Given the description of an element on the screen output the (x, y) to click on. 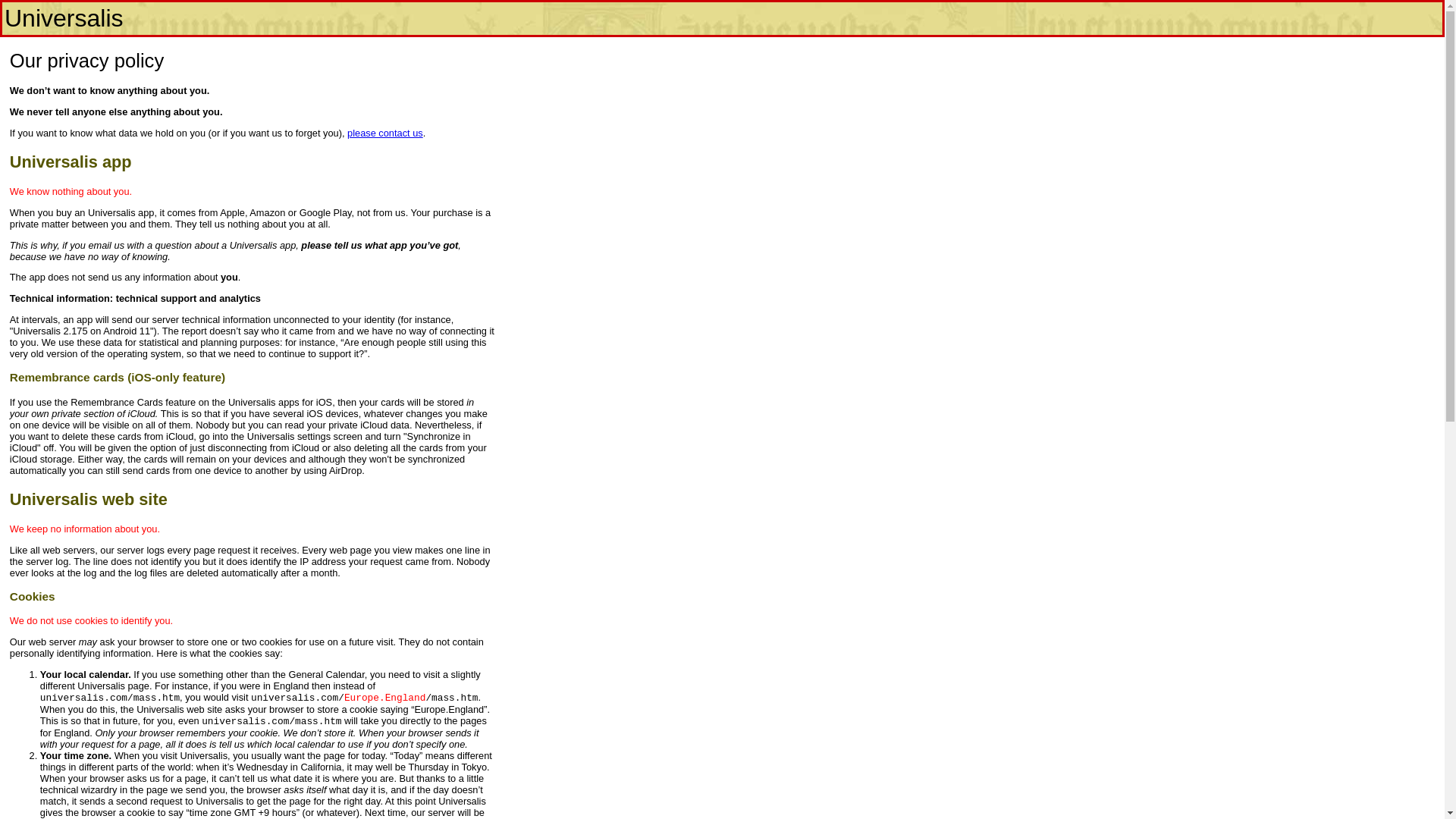
Universalis (63, 17)
please contact us (385, 132)
